Given the description of an element on the screen output the (x, y) to click on. 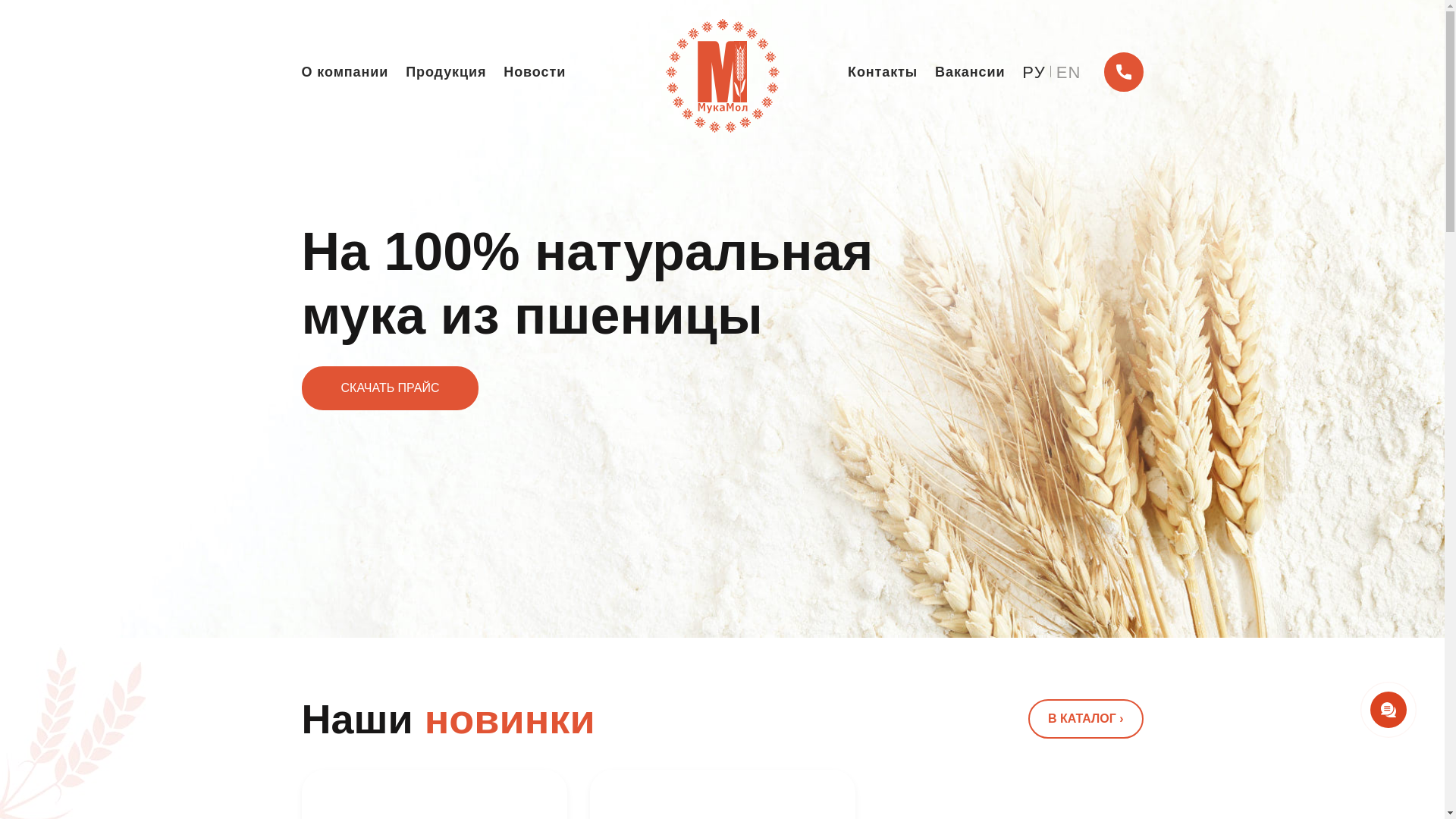
EN Element type: text (1068, 71)
